Given the description of an element on the screen output the (x, y) to click on. 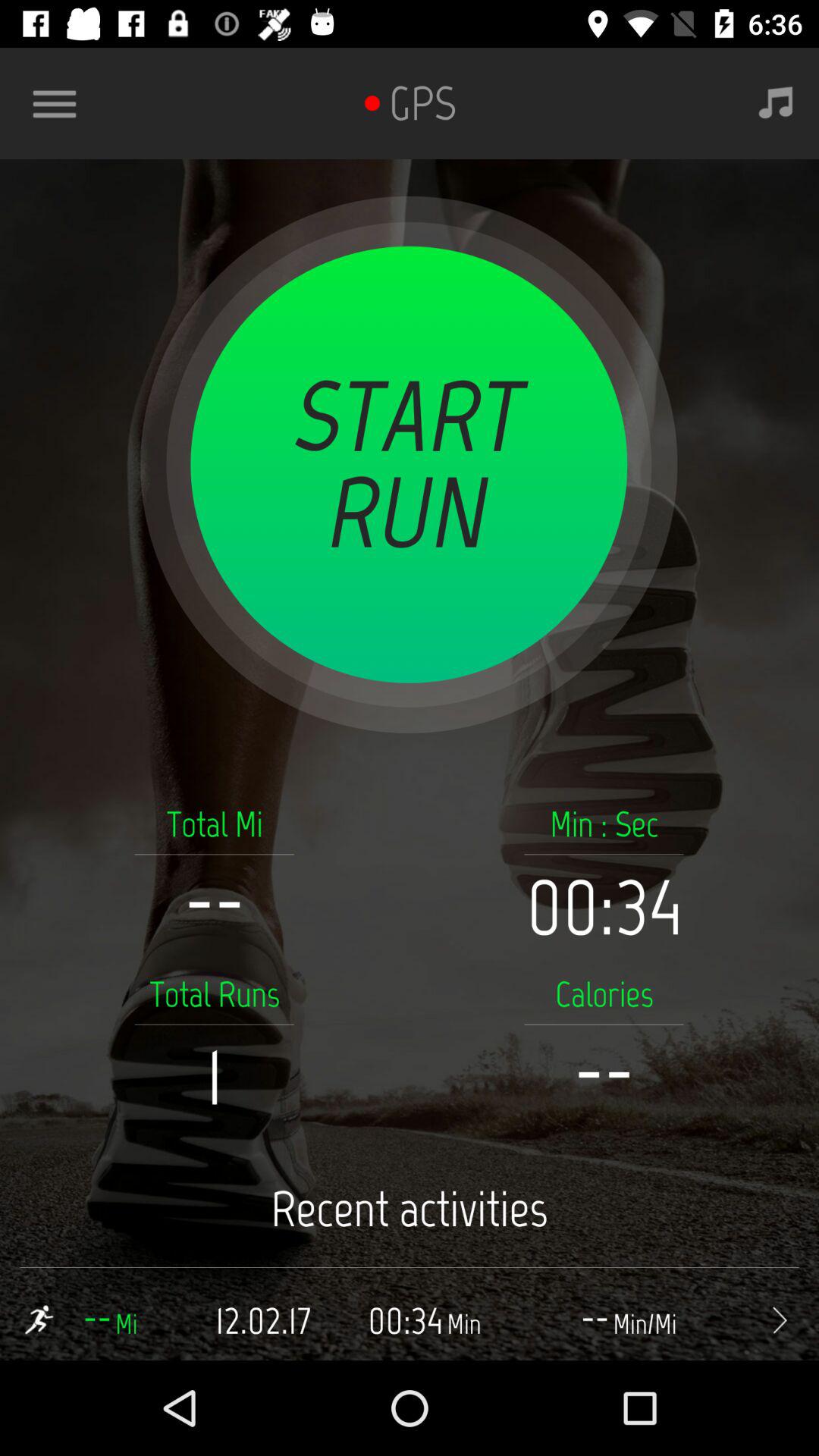
settings (60, 103)
